Given the description of an element on the screen output the (x, y) to click on. 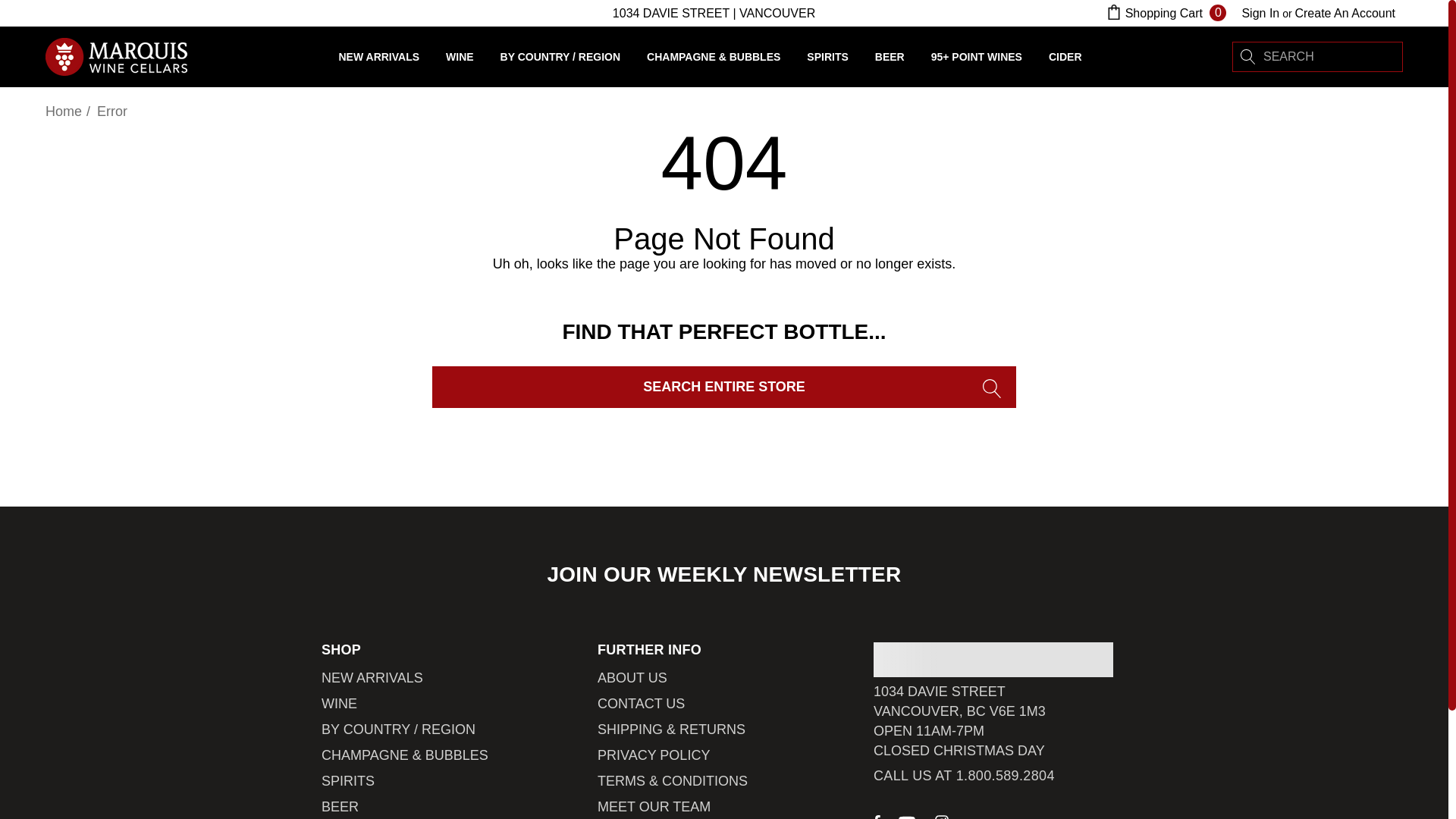
Review Your Cart Review Your Cart Shopping Cart 0 (1164, 13)
Home (63, 111)
Create An Account (1344, 12)
Marquis Wine Cellars (116, 56)
NEW ARRIVALS (372, 678)
ABOUT US (631, 678)
WINE (459, 60)
CIDER (1064, 56)
facebook facebook (876, 816)
CALL US AT 1.800.589.2804 (963, 775)
